Given the description of an element on the screen output the (x, y) to click on. 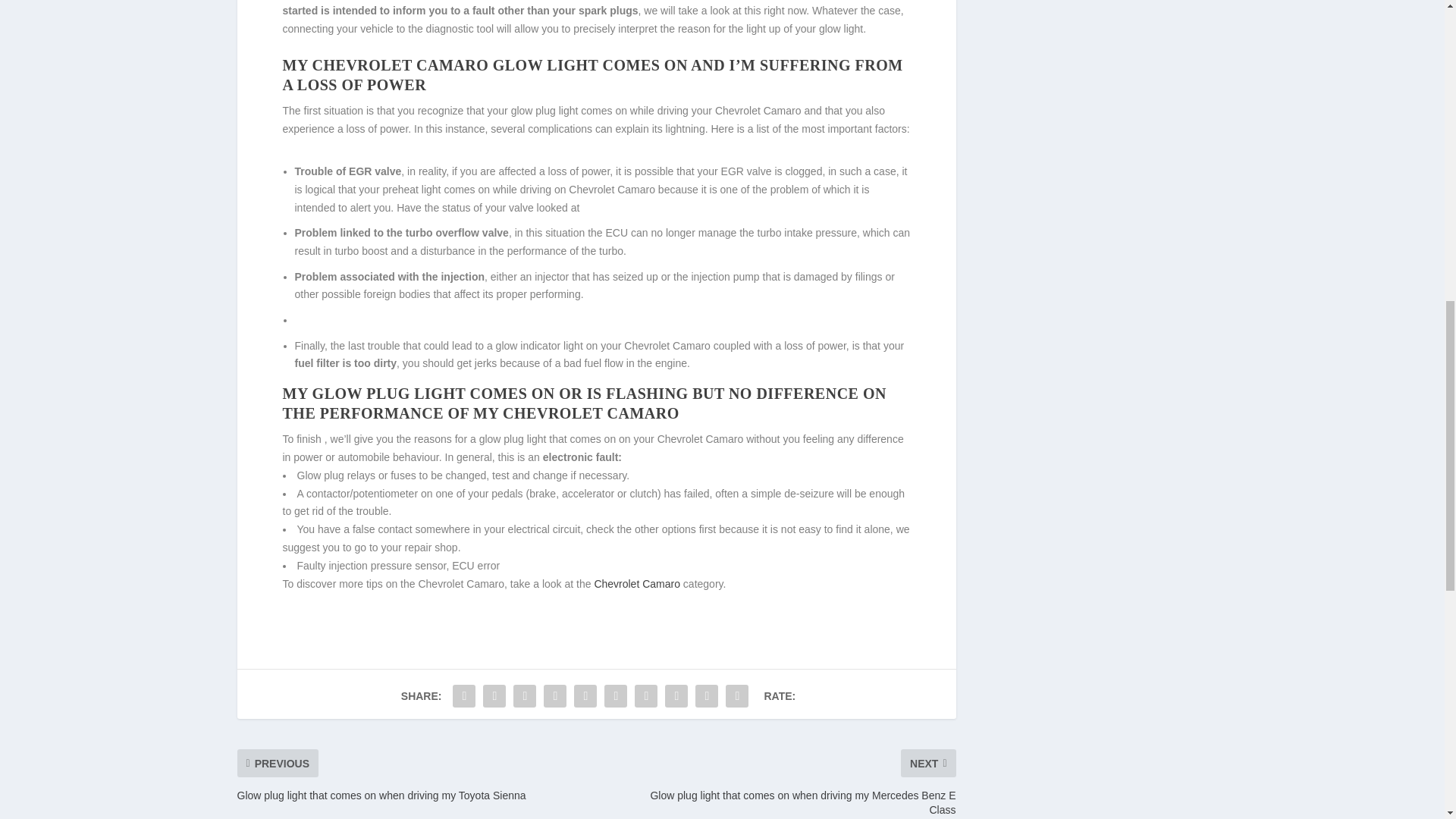
Chevrolet Camaro (636, 583)
